Given the description of an element on the screen output the (x, y) to click on. 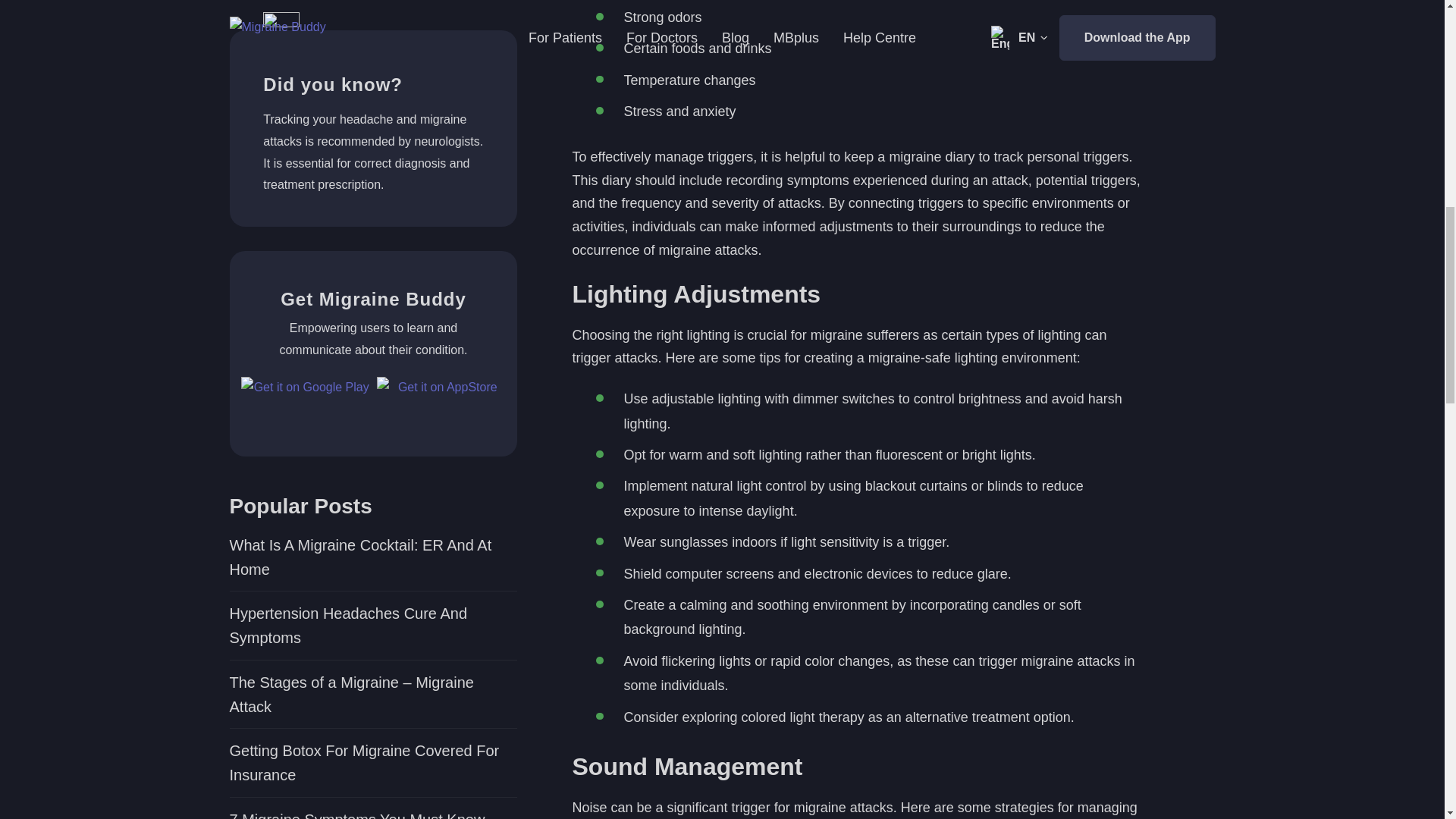
7 Migraine Symptoms You Must Know (372, 119)
Getting Botox For Migraine Covered For Insurance (372, 61)
7 Migraine Symptoms You Must Know (372, 119)
Getting Botox For Migraine Covered For Insurance (372, 61)
